Given the description of an element on the screen output the (x, y) to click on. 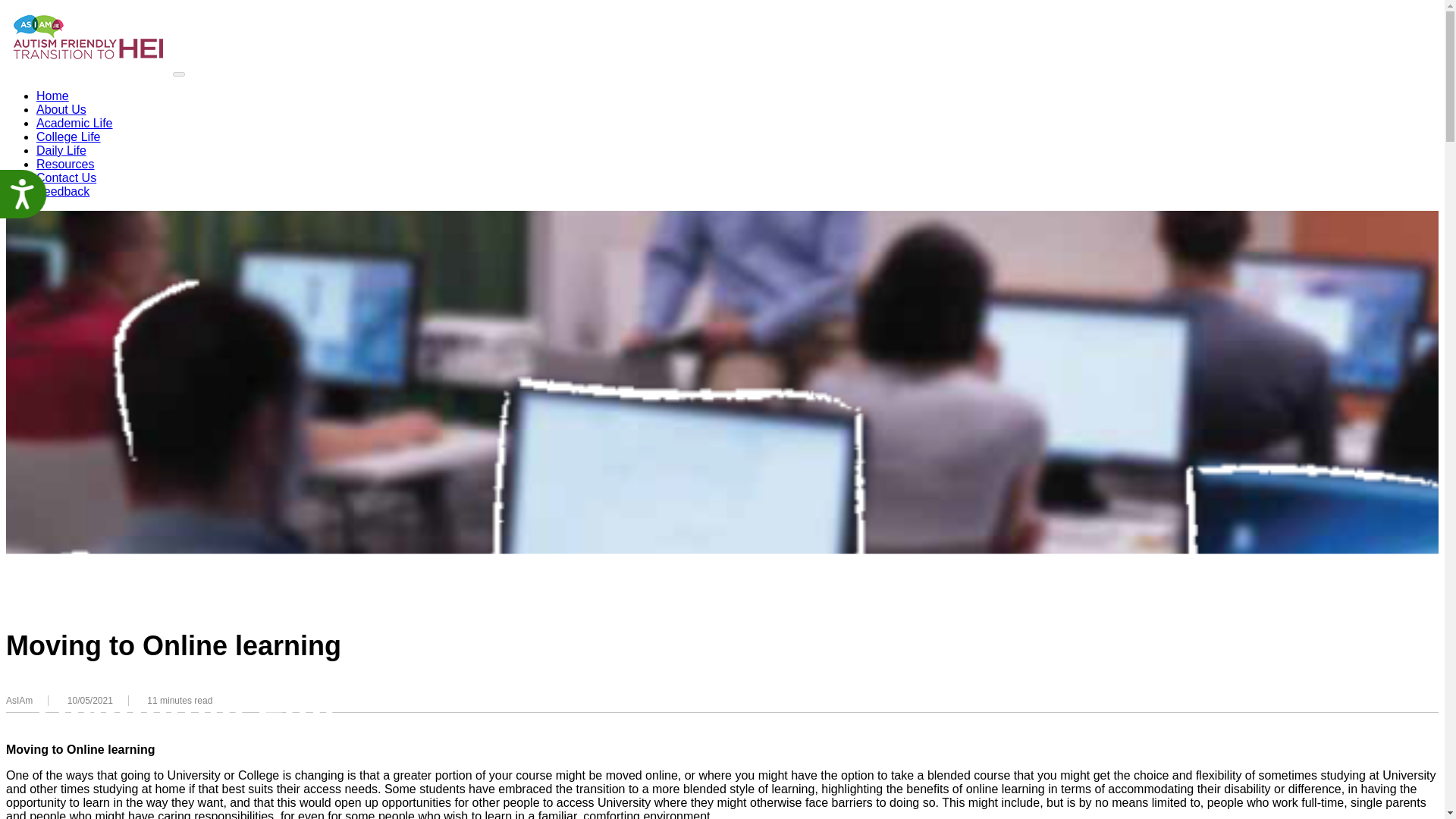
Feedback (62, 191)
About Us (60, 109)
Daily Life (60, 150)
Academic Life (74, 123)
Contact Us (66, 177)
College Life (68, 136)
Resources (65, 164)
Home (52, 95)
Accessibility (29, 199)
